Given the description of an element on the screen output the (x, y) to click on. 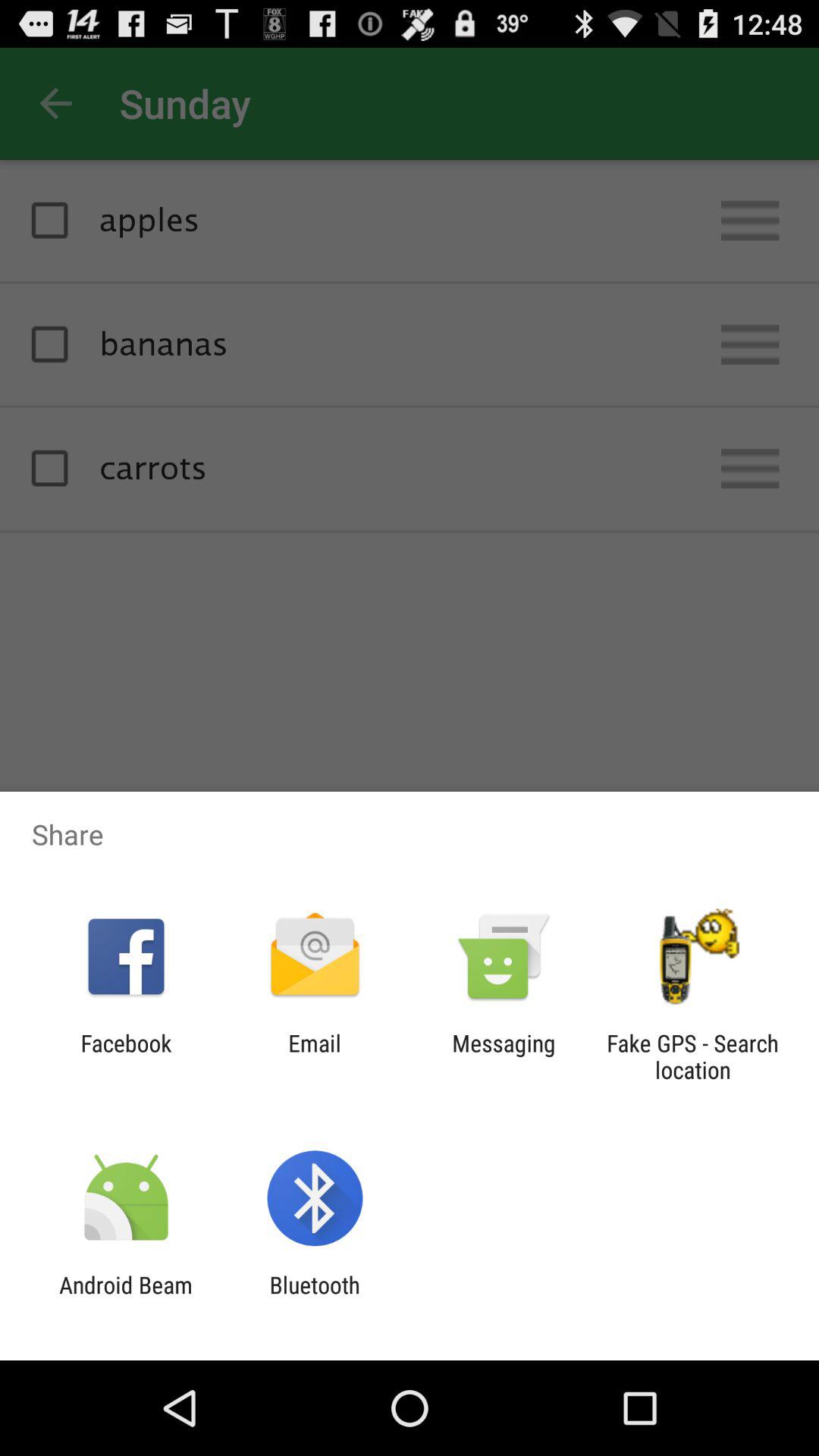
press the item to the left of the bluetooth app (125, 1298)
